Given the description of an element on the screen output the (x, y) to click on. 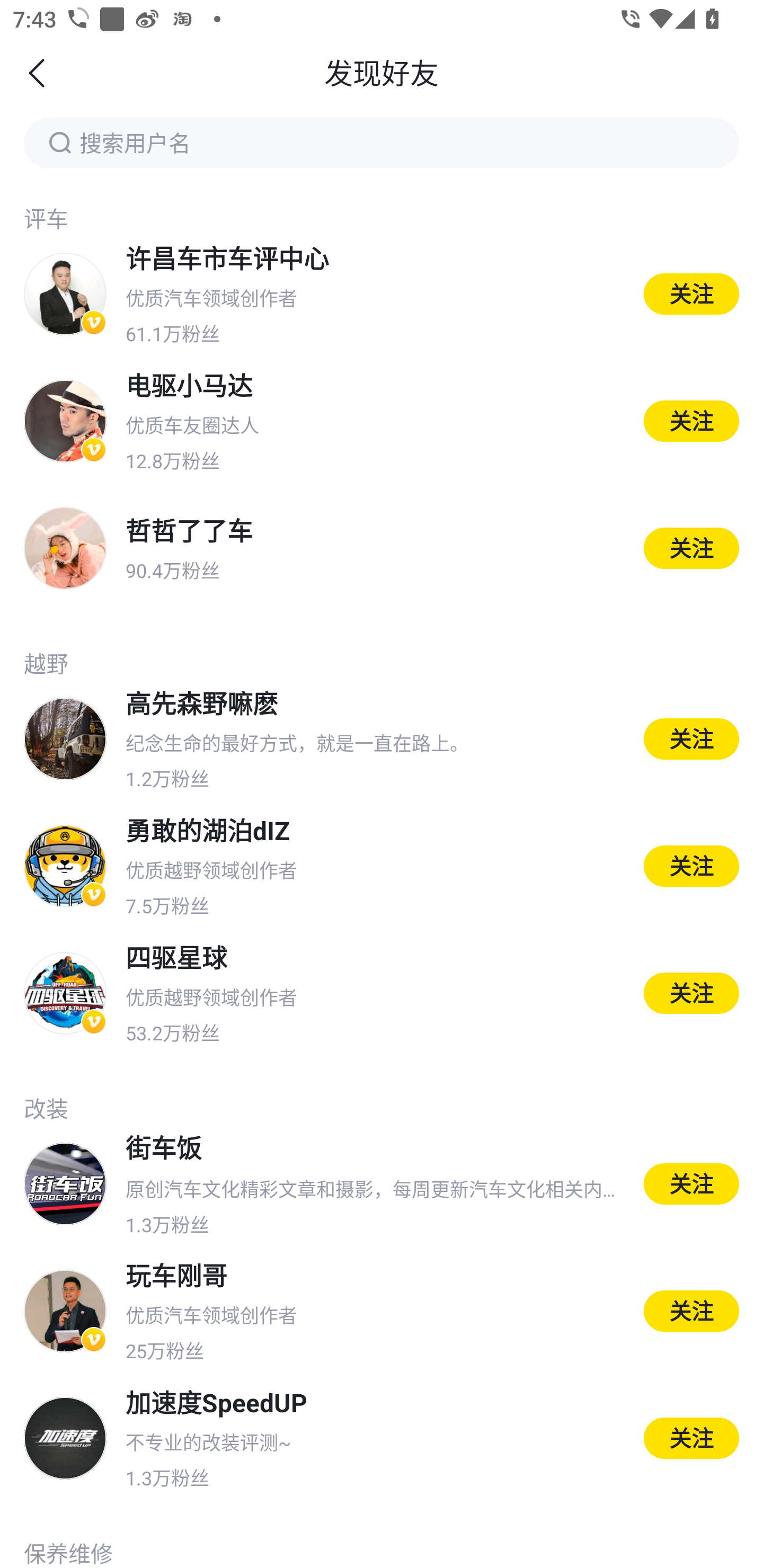
搜索用户名 (381, 142)
许昌车市车评中心 优质汽车领域创作者 61.1万粉丝 关注 (381, 293)
关注 (691, 293)
电驱小马达 优质车友圈达人 12.8万粉丝 关注 (381, 420)
关注 (691, 420)
哲哲了了车 90.4万粉丝 关注 (381, 547)
关注 (691, 547)
高先森野嘛麽 纪念生命的最好方式，就是一直在路上。 1.2万粉丝 关注 (381, 738)
关注 (691, 738)
勇敢的湖泊dIZ 优质越野领域创作者 7.5万粉丝 关注 (381, 865)
关注 (691, 866)
四驱星球 优质越野领域创作者 53.2万粉丝 关注 (381, 992)
关注 (691, 993)
街车饭 原创汽车文化精彩文章和摄影，每周更新汽车文化相关内容。 1.3万粉丝 关注 (381, 1184)
关注 (691, 1183)
玩车刚哥 优质汽车领域创作者 25万粉丝 关注 (381, 1311)
关注 (691, 1310)
加速度SpeedUP 不专业的改装评测~ 1.3万粉丝 关注 (381, 1438)
关注 (691, 1437)
